Given the description of an element on the screen output the (x, y) to click on. 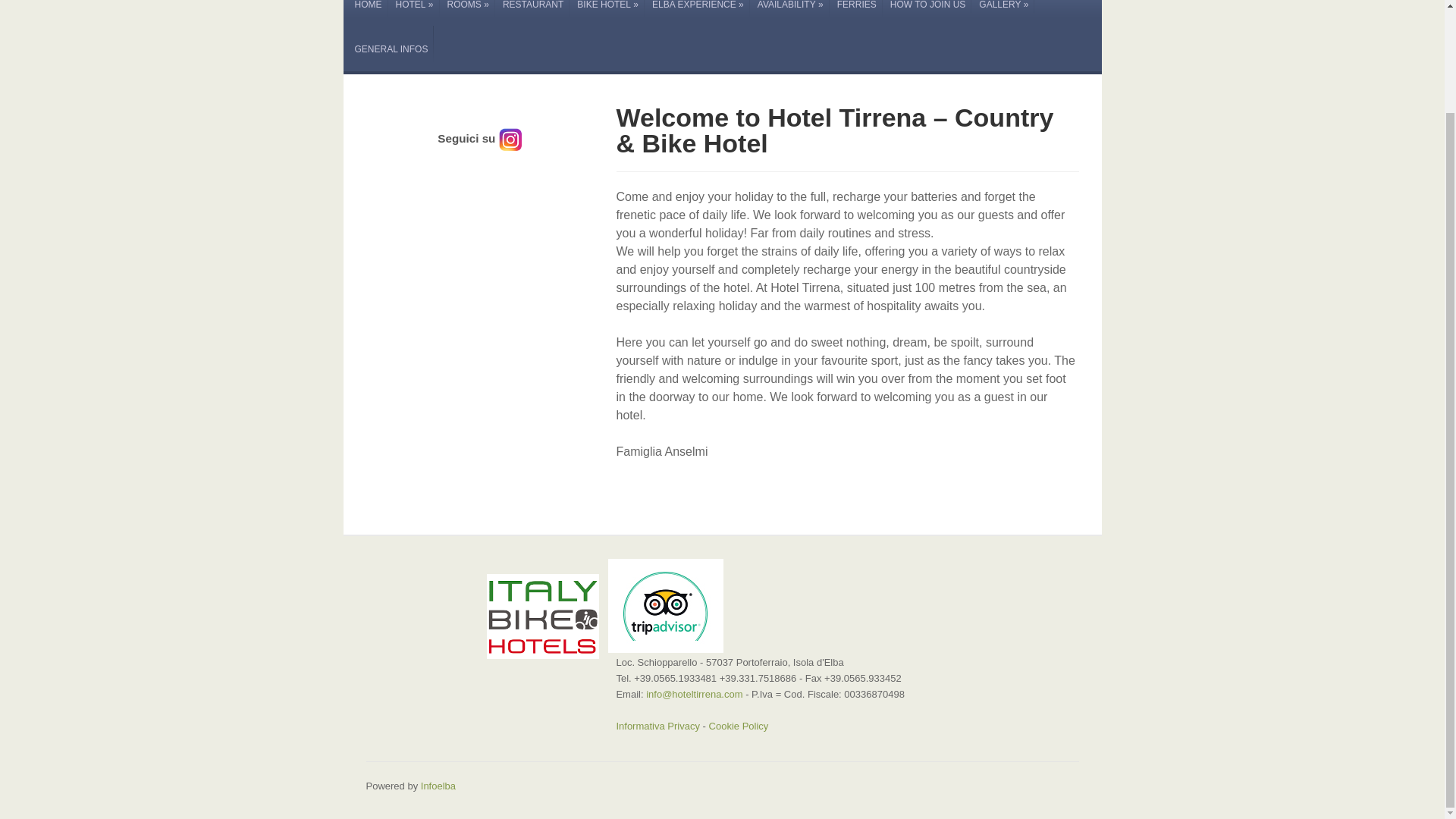
Privacy Policy (657, 726)
FERRIES (855, 12)
RESTAURANT (532, 12)
Italy Bike Hotels (542, 614)
HOME (367, 12)
Privacy Policy (738, 726)
HOW TO JOIN US (927, 12)
